Given the description of an element on the screen output the (x, y) to click on. 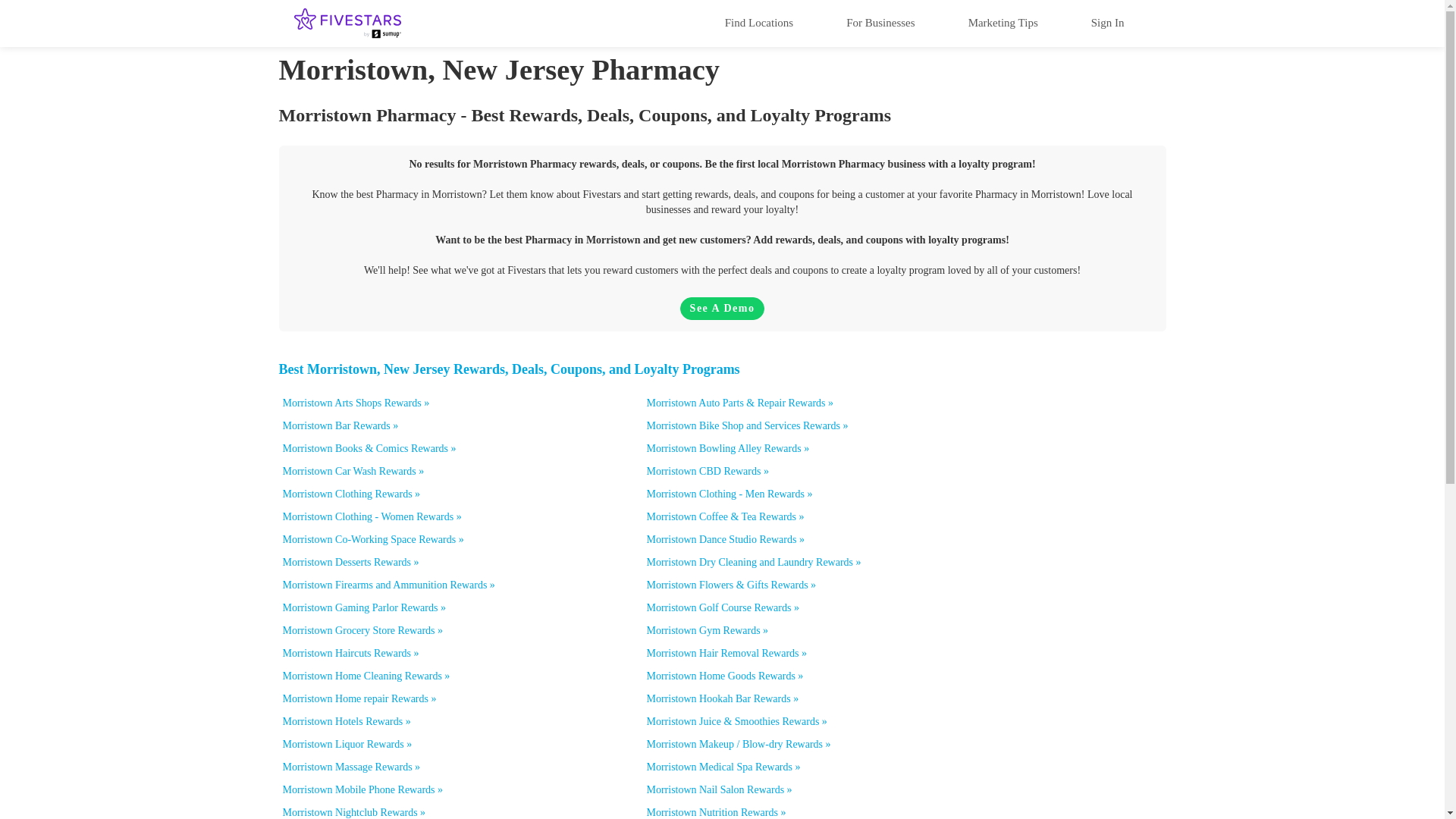
Marketing Tips (1002, 22)
For Businesses (880, 22)
Sign In (1107, 22)
See A Demo (722, 308)
See a Demo and Learn More About Fivestars (722, 308)
Find Locations (759, 22)
Marketing Tips and Blog (1002, 22)
